Given the description of an element on the screen output the (x, y) to click on. 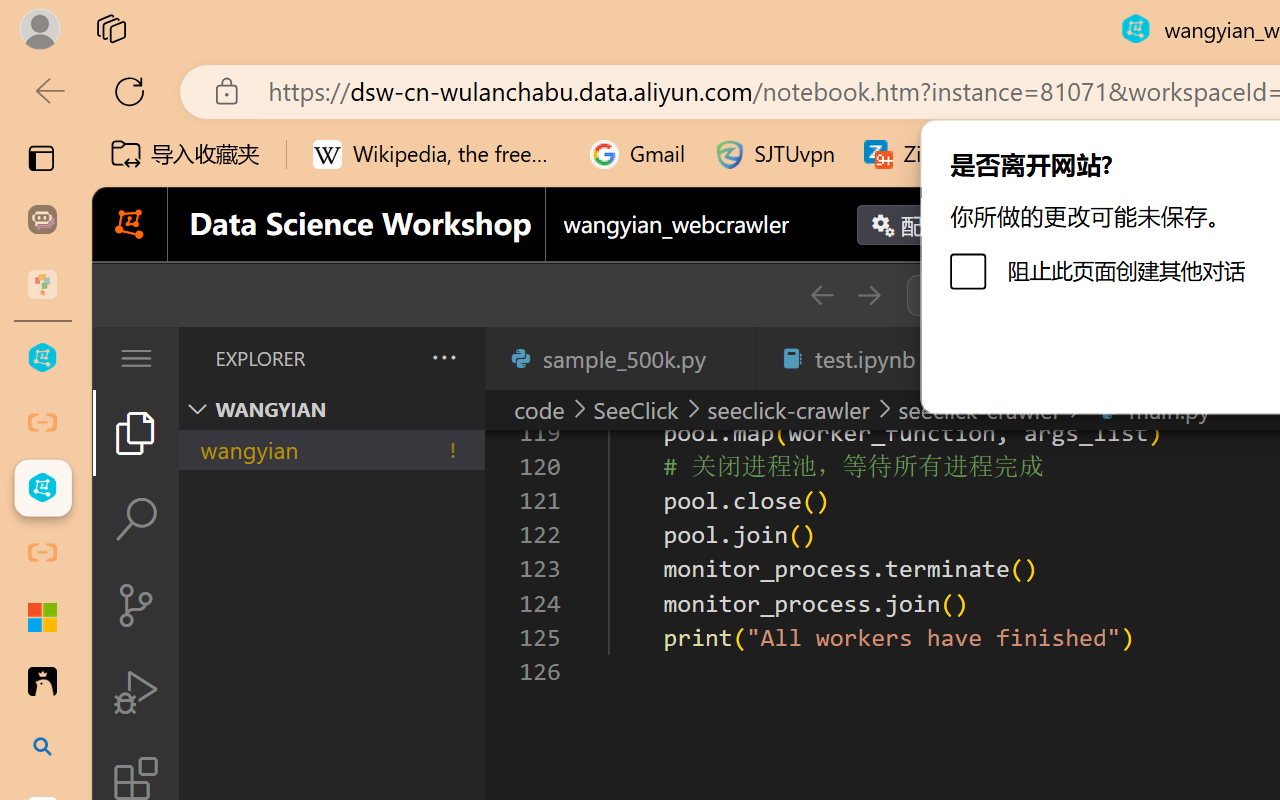
Source Control (Ctrl+Shift+G) (135, 604)
